Given the description of an element on the screen output the (x, y) to click on. 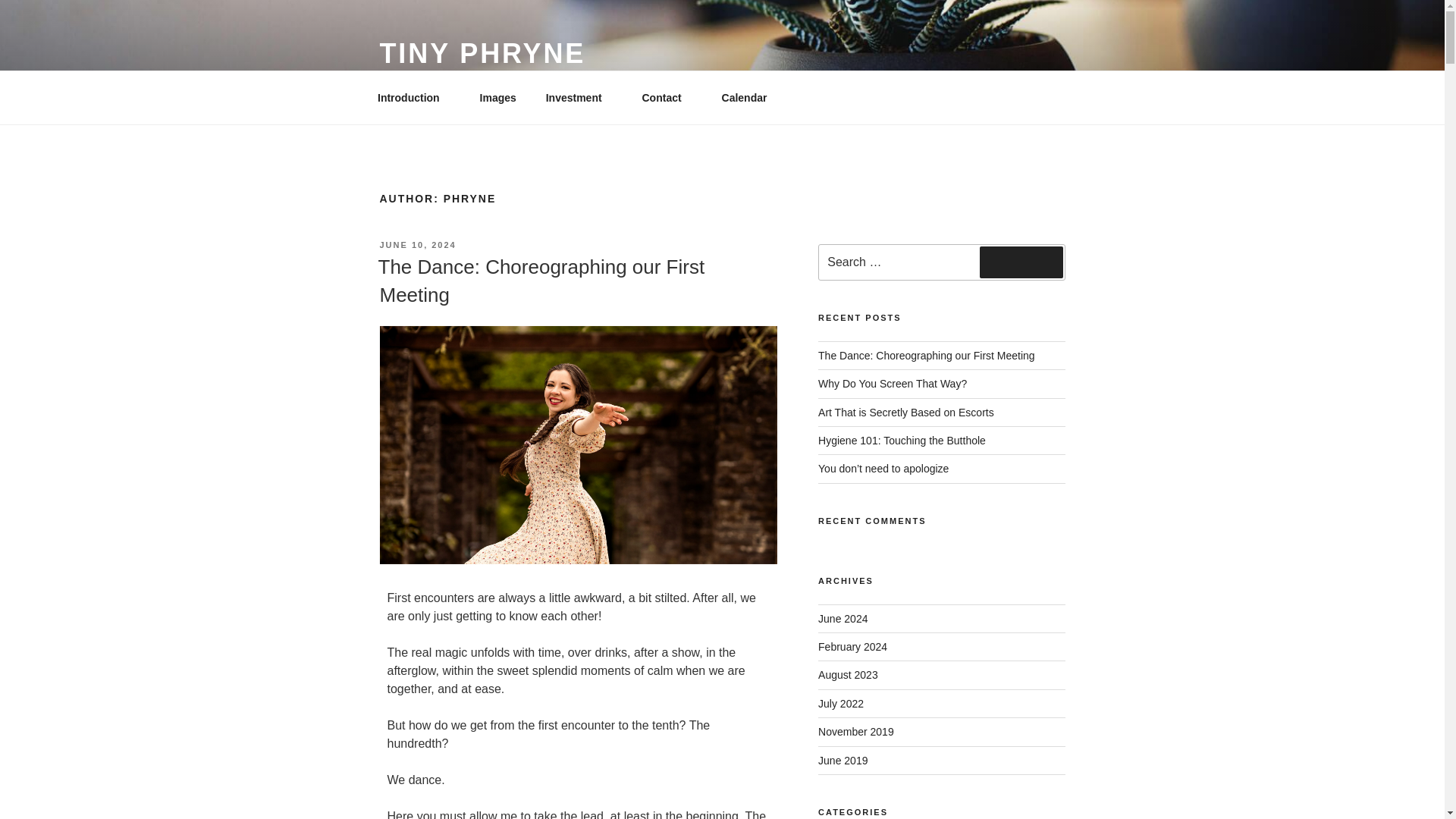
Calendar (743, 97)
JUNE 10, 2024 (416, 244)
Contact (666, 97)
Images (497, 97)
Introduction (413, 97)
Investment (579, 97)
TINY PHRYNE (481, 52)
The Dance: Choreographing our First Meeting (540, 280)
